Given the description of an element on the screen output the (x, y) to click on. 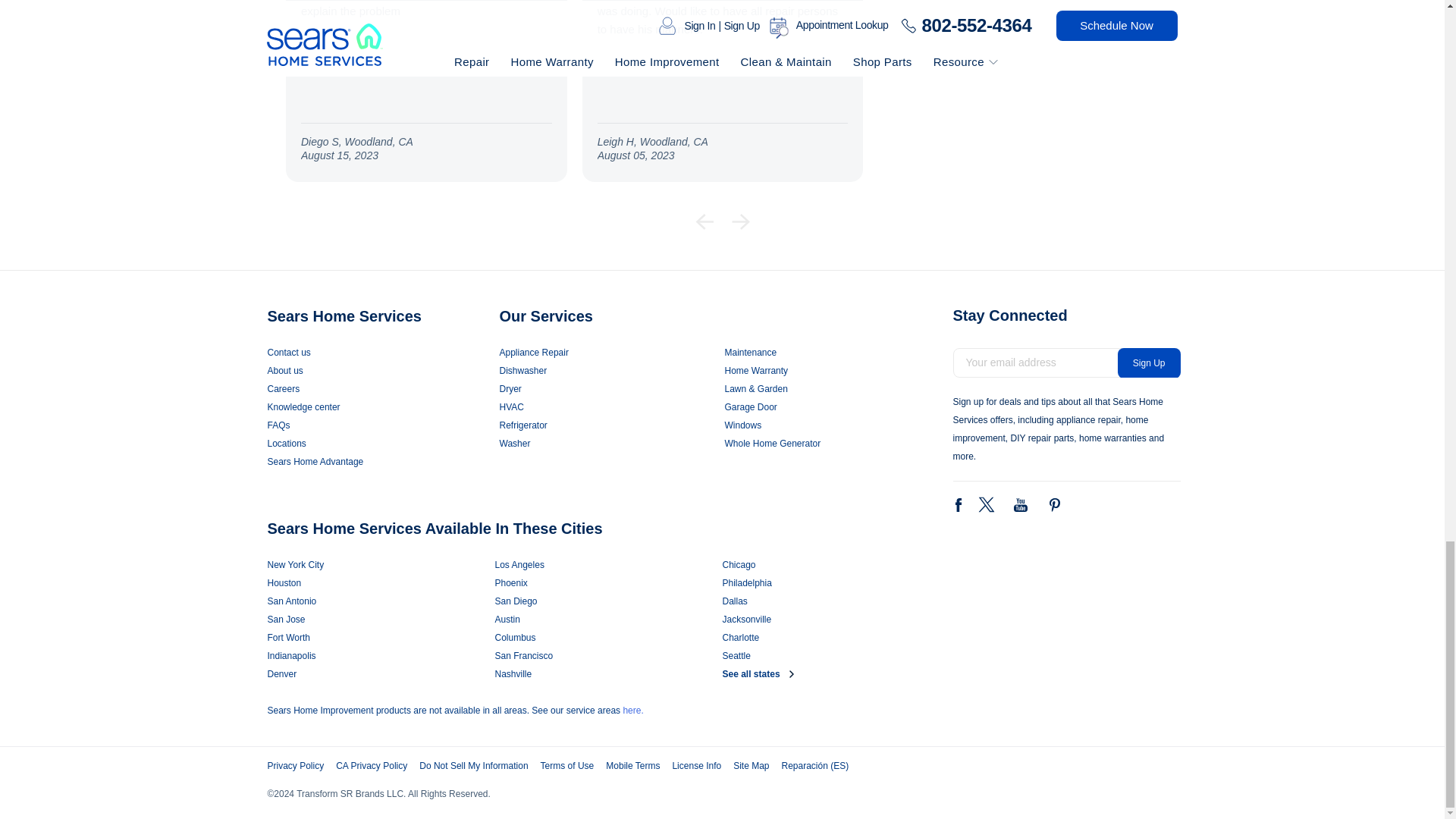
Contact us (382, 352)
